Given the description of an element on the screen output the (x, y) to click on. 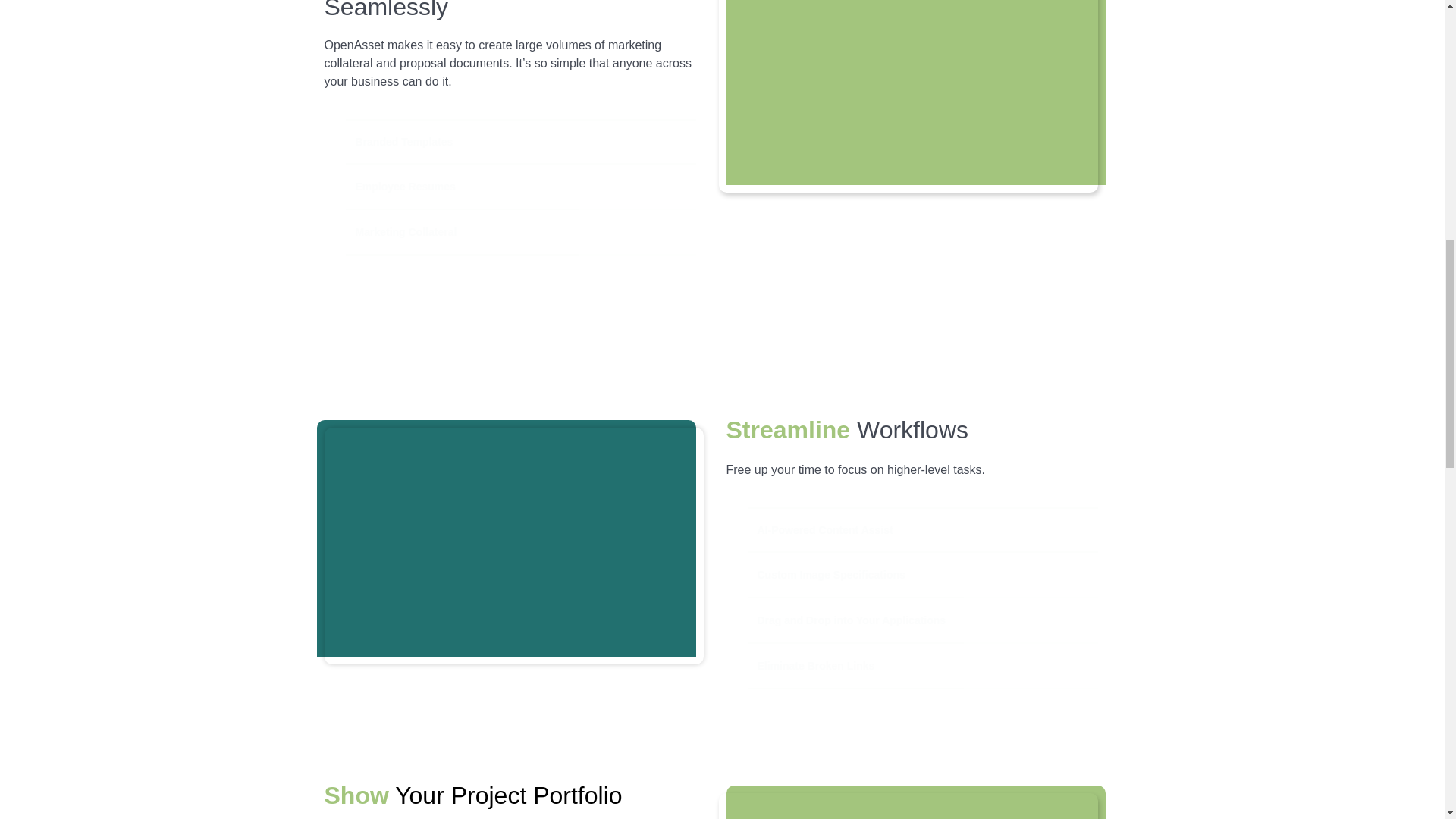
Branded Templates (520, 141)
Marketing Collateral (520, 232)
Employee Resumes (520, 186)
